Given the description of an element on the screen output the (x, y) to click on. 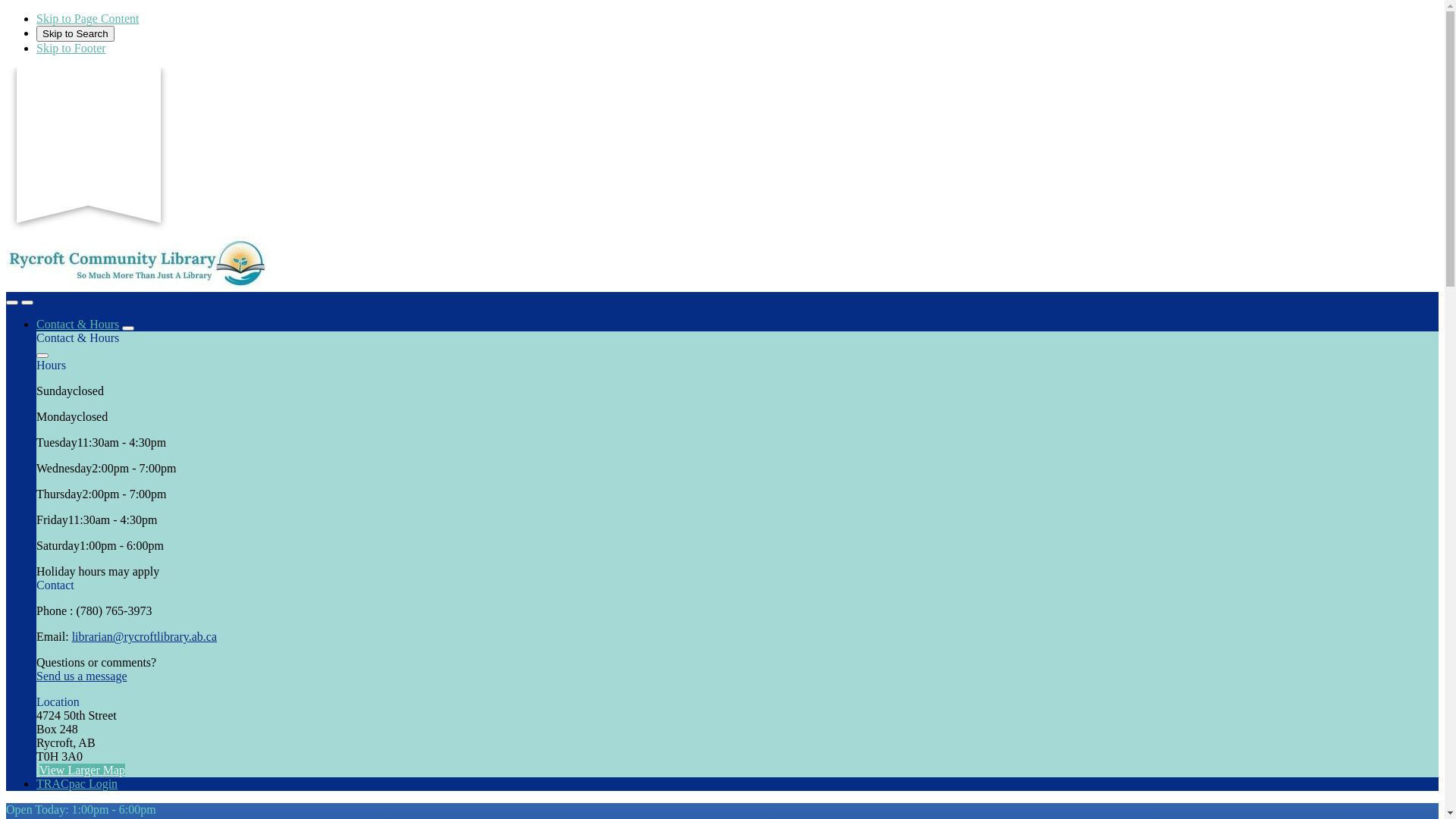
Contact & Hours Element type: text (77, 323)
Skip to Page Content Element type: text (87, 18)
Skip to Search Element type: text (75, 33)
Skip to Footer Element type: text (71, 47)
Send us a message Element type: text (81, 675)
View Larger Map Element type: text (82, 769)
TRACpac Login Element type: text (76, 783)
Rycroft Community Library Element type: hover (138, 284)
librarian@rycroftlibrary.ab.ca Element type: text (144, 636)
